Given the description of an element on the screen output the (x, y) to click on. 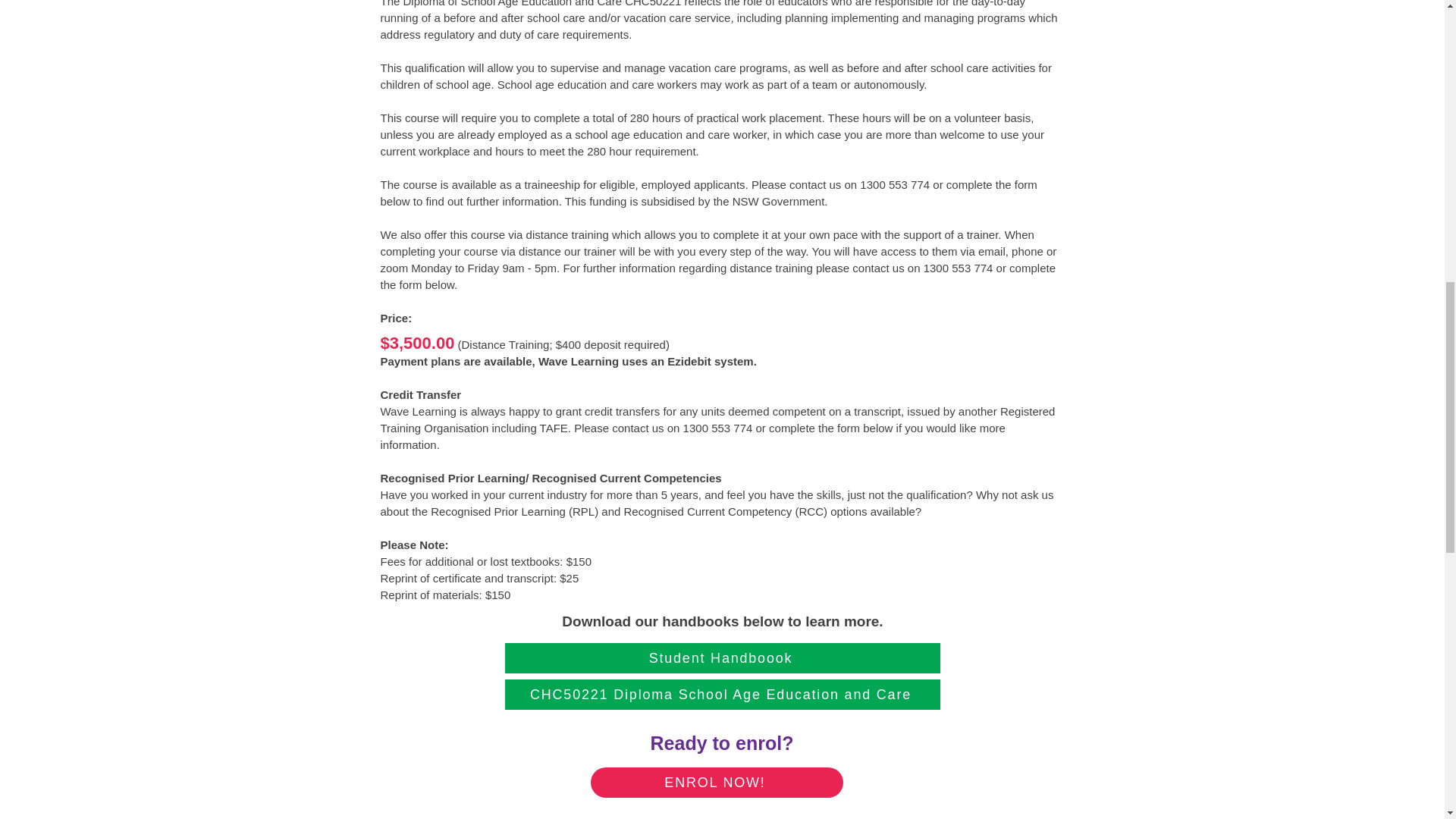
ENROL NOW! (716, 782)
Student Handboook (722, 657)
CHC50221 Diploma School Age Education and Care (722, 694)
